Given the description of an element on the screen output the (x, y) to click on. 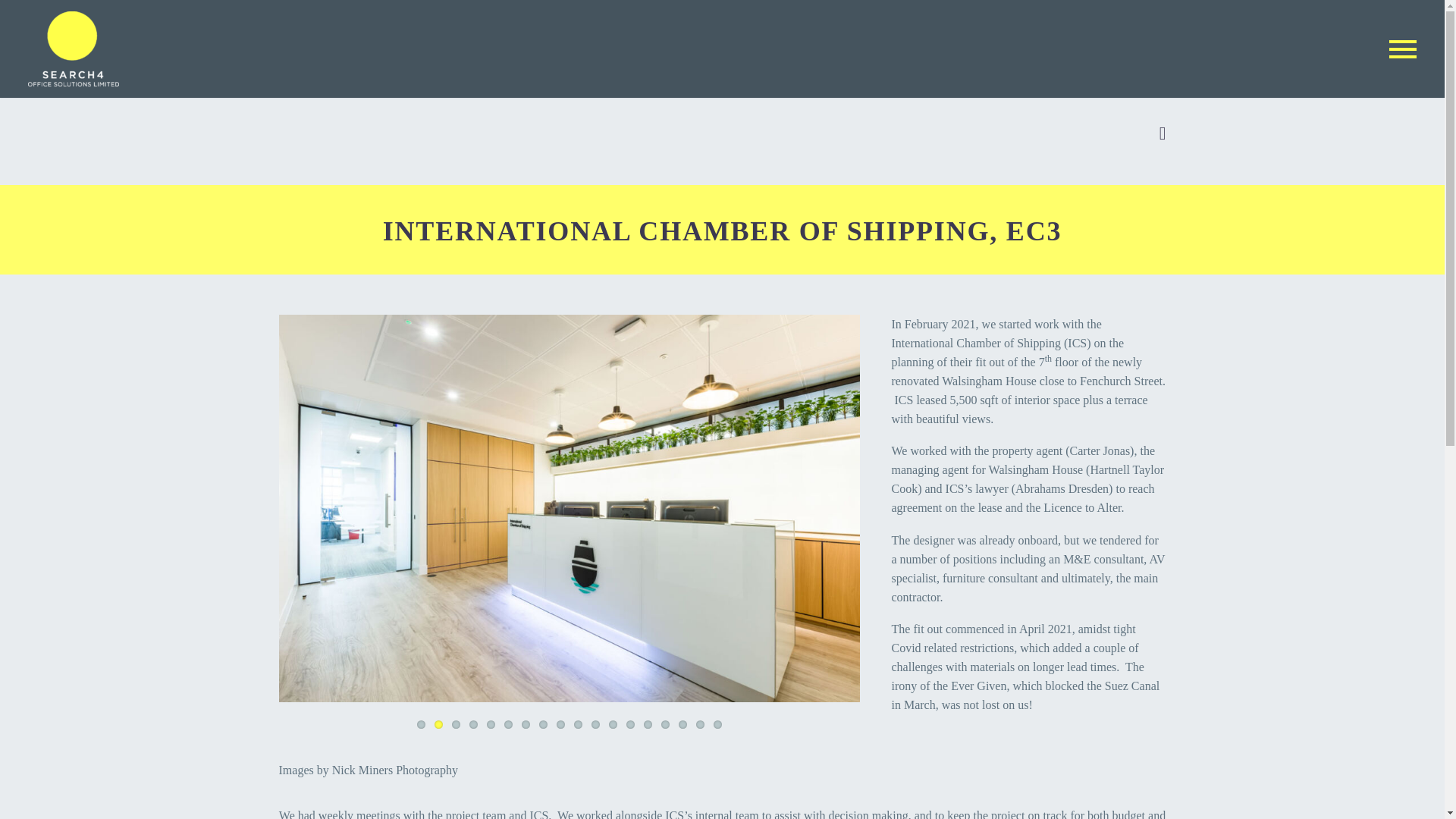
7 (525, 724)
9 (560, 724)
Primary Menu (1402, 48)
8 (542, 724)
4 (472, 724)
2 (437, 724)
5 (490, 724)
3 (455, 724)
Next post (1162, 133)
1 (420, 724)
6 (507, 724)
